Given the description of an element on the screen output the (x, y) to click on. 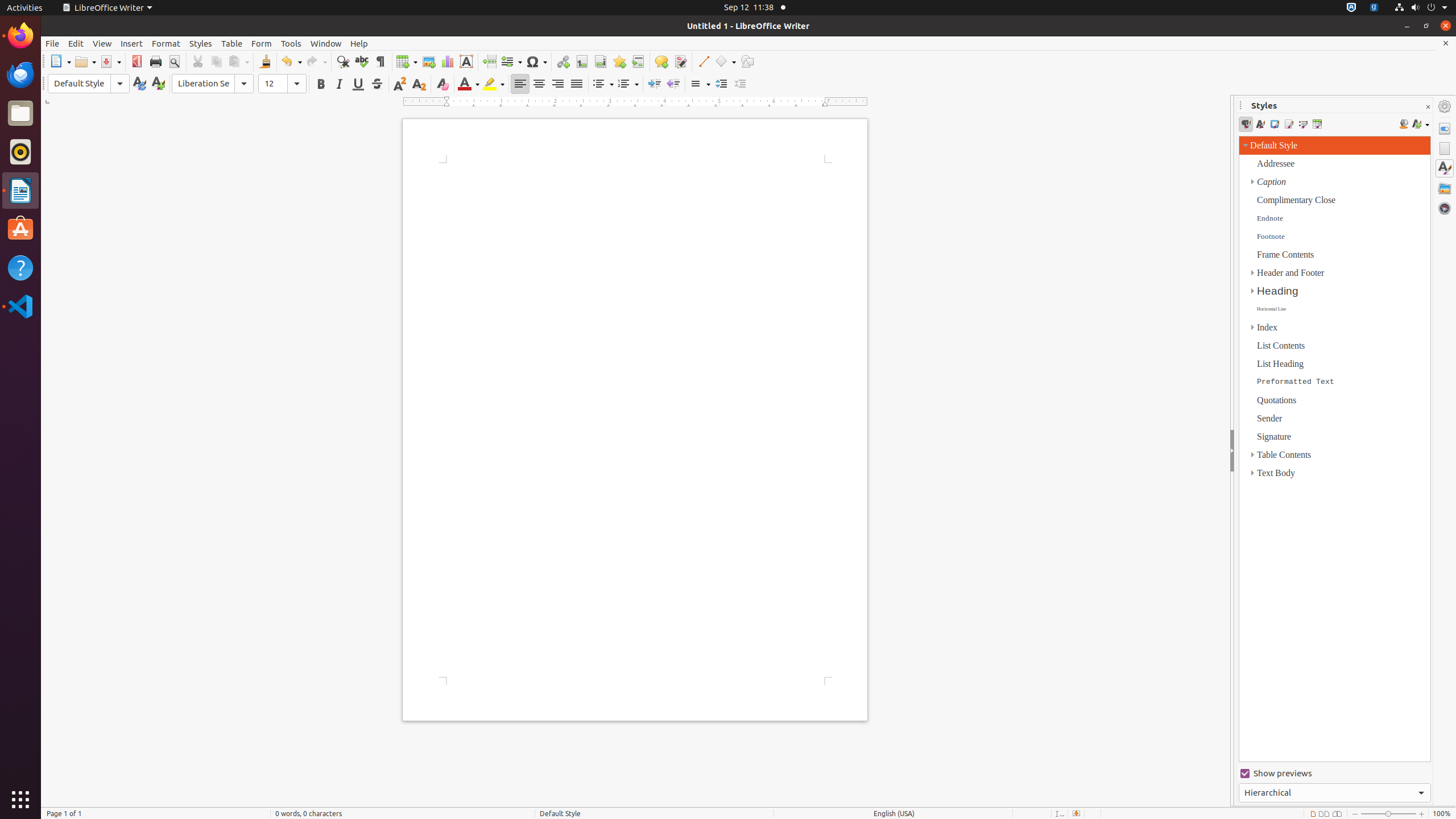
Line Element type: toggle-button (702, 61)
Footnote Element type: push-button (581, 61)
Hyperlink Element type: toggle-button (562, 61)
Format Element type: menu (165, 43)
Style List Element type: tree (1334, 448)
